Given the description of an element on the screen output the (x, y) to click on. 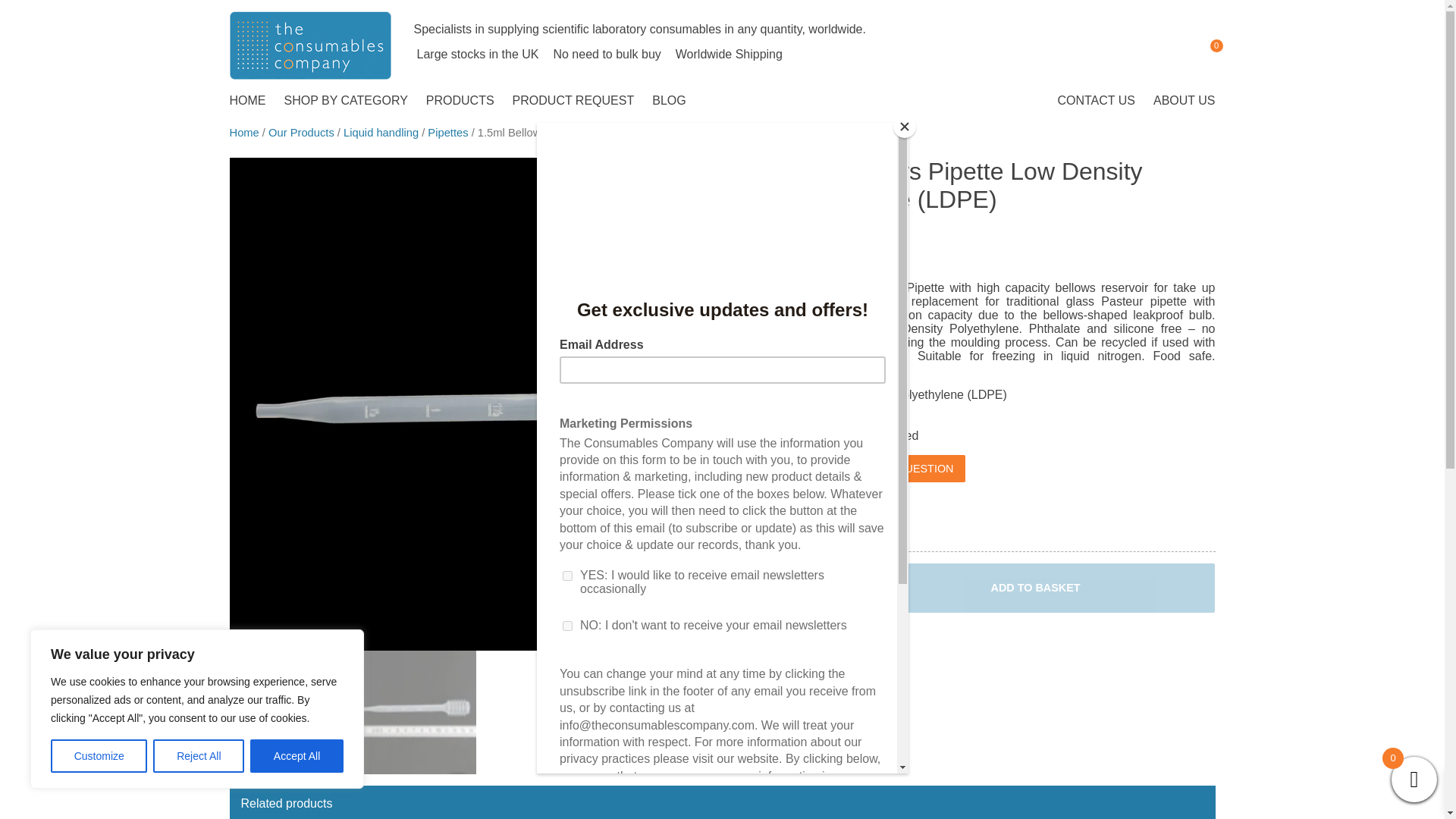
ASK A QUESTION (906, 468)
Pipettes (447, 132)
1 (811, 587)
SHOP BY CATEGORY (345, 100)
ABOUT US (1182, 100)
Liquid handling (381, 132)
Home (243, 132)
HOME (247, 100)
MORE INFO (809, 474)
PRODUCTS (460, 100)
PRODUCT REQUEST (573, 100)
Customize (98, 756)
CONTACT US (1097, 100)
Accept All (296, 756)
